Given the description of an element on the screen output the (x, y) to click on. 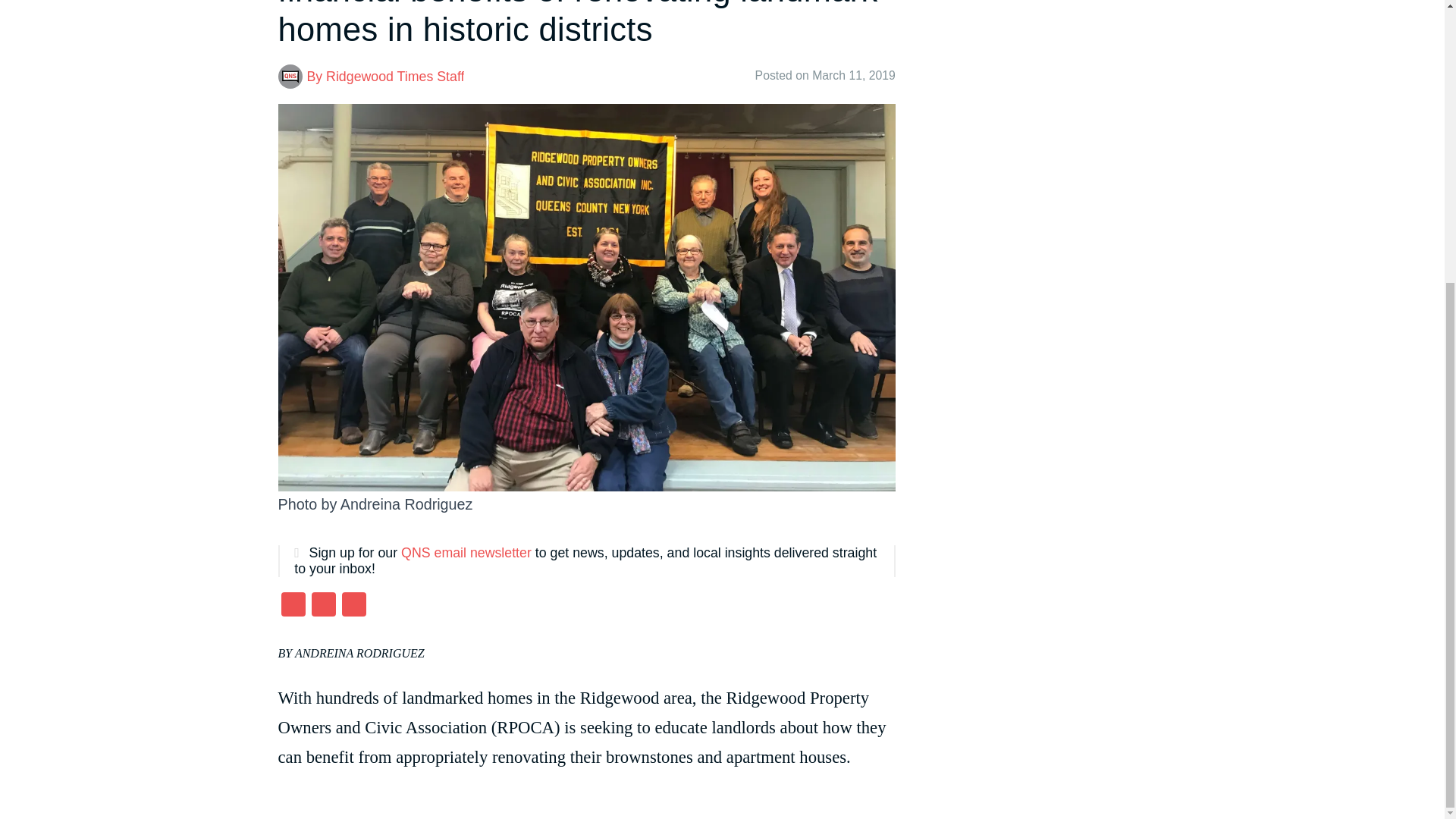
Facebook (292, 605)
Twitter (322, 605)
Posts by Ridgewood Times Staff (395, 76)
